Given the description of an element on the screen output the (x, y) to click on. 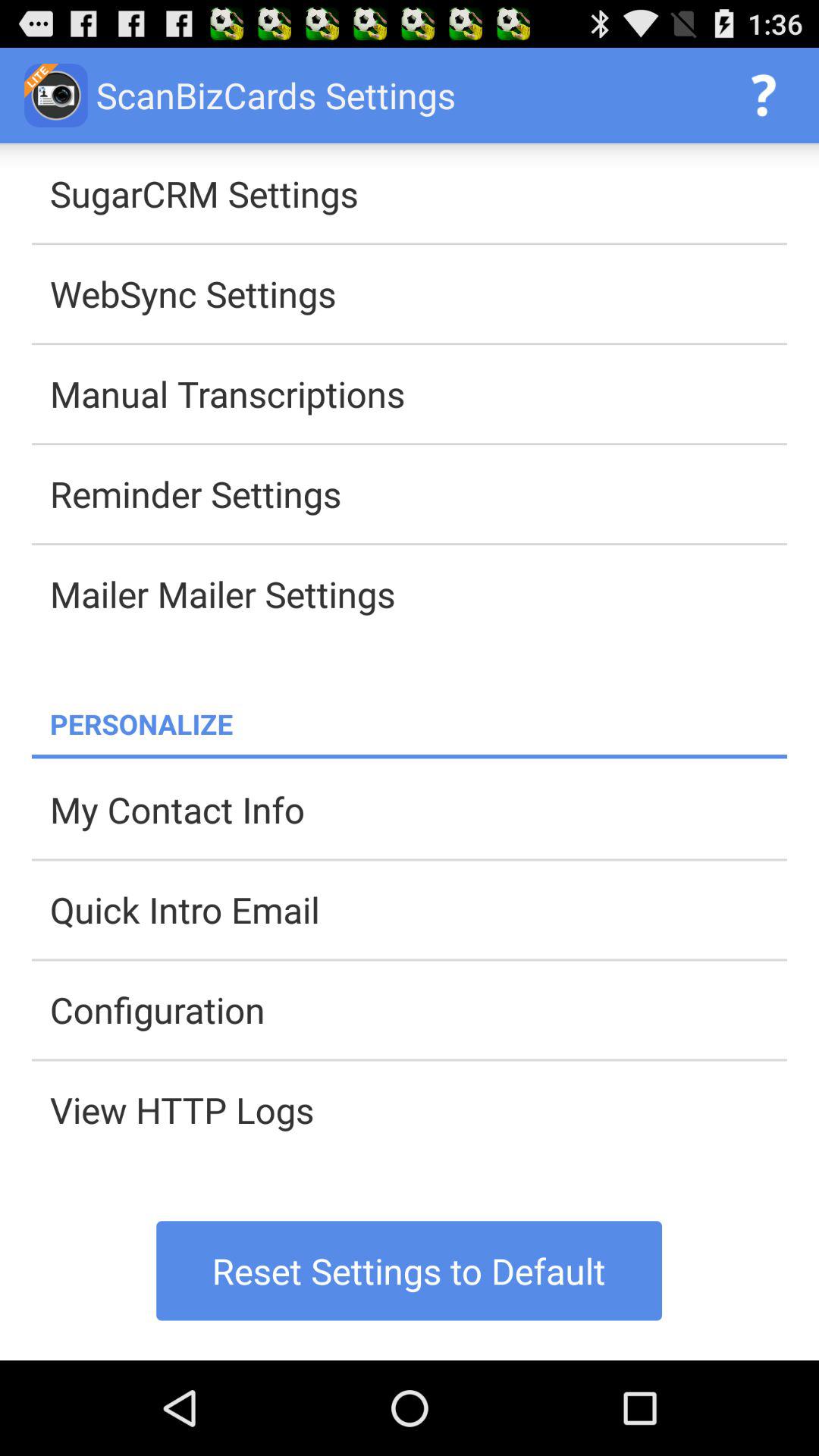
turn on the app above the manual transcriptions item (418, 293)
